Given the description of an element on the screen output the (x, y) to click on. 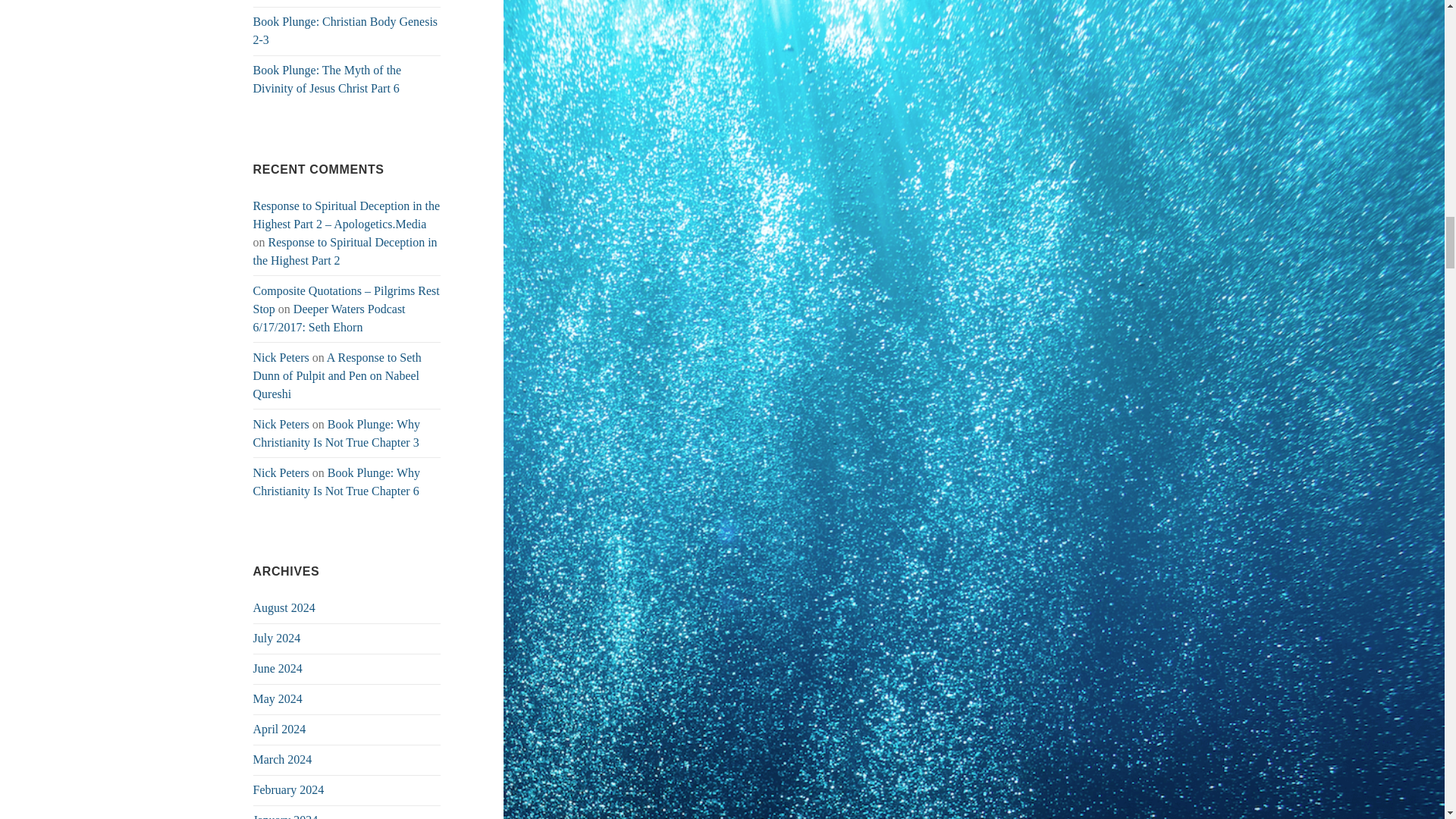
Nick Peters (280, 357)
Nick Peters (280, 423)
Book Plunge: Christian Body Genesis 2-3 (345, 30)
Response to Spiritual Deception in the Highest Part 2 (345, 250)
Book Plunge: Why Christianity Is Not True Chapter 3 (336, 432)
Book Plunge: The Myth of the Divinity of Jesus Christ Part 6 (327, 79)
A Response to Seth Dunn of Pulpit and Pen on Nabeel Qureshi (337, 375)
